Given the description of an element on the screen output the (x, y) to click on. 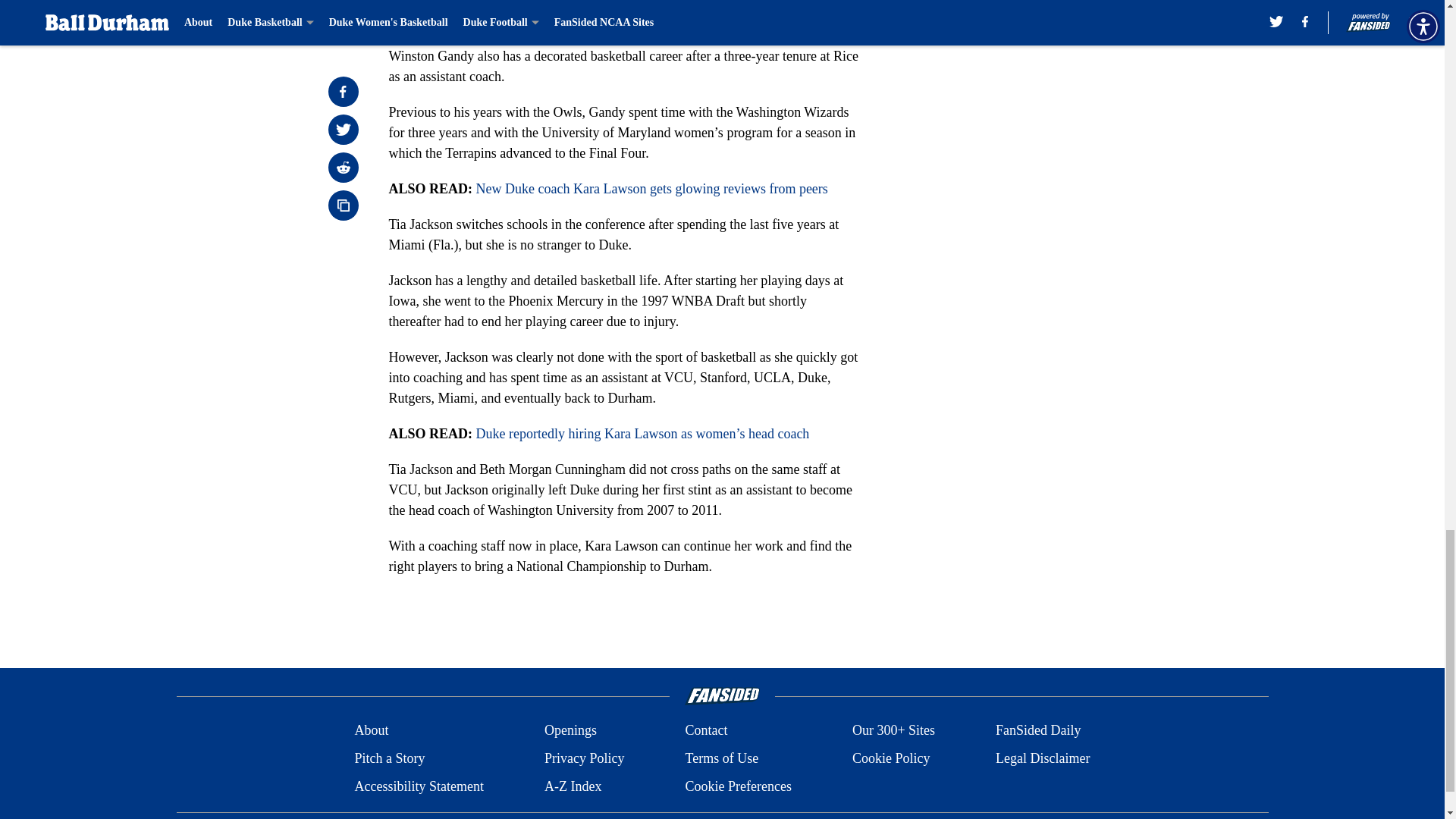
Openings (570, 730)
Pitch a Story (389, 758)
FanSided Daily (1038, 730)
Terms of Use (721, 758)
Cookie Policy (890, 758)
Contact (705, 730)
About (370, 730)
New Duke coach Kara Lawson gets glowing reviews from peers (652, 188)
Privacy Policy (584, 758)
